Given the description of an element on the screen output the (x, y) to click on. 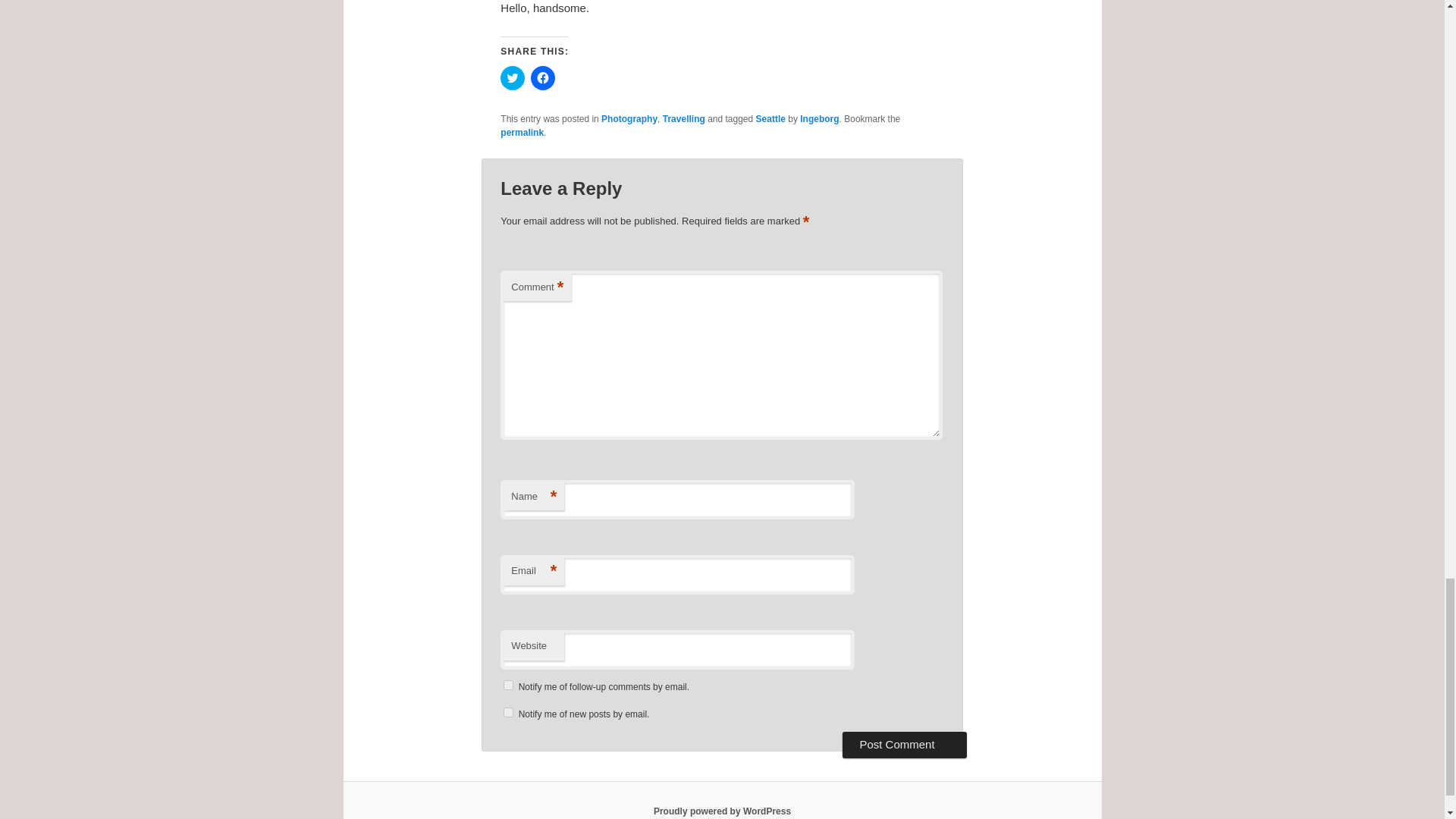
Post Comment (904, 744)
Ingeborg (818, 118)
Proudly powered by WordPress (721, 810)
Click to share on Twitter (512, 78)
Travelling (683, 118)
Photography (629, 118)
subscribe (508, 712)
Click to share on Facebook (542, 78)
subscribe (508, 685)
Permalink to Sunday in Eastlake (521, 132)
